Given the description of an element on the screen output the (x, y) to click on. 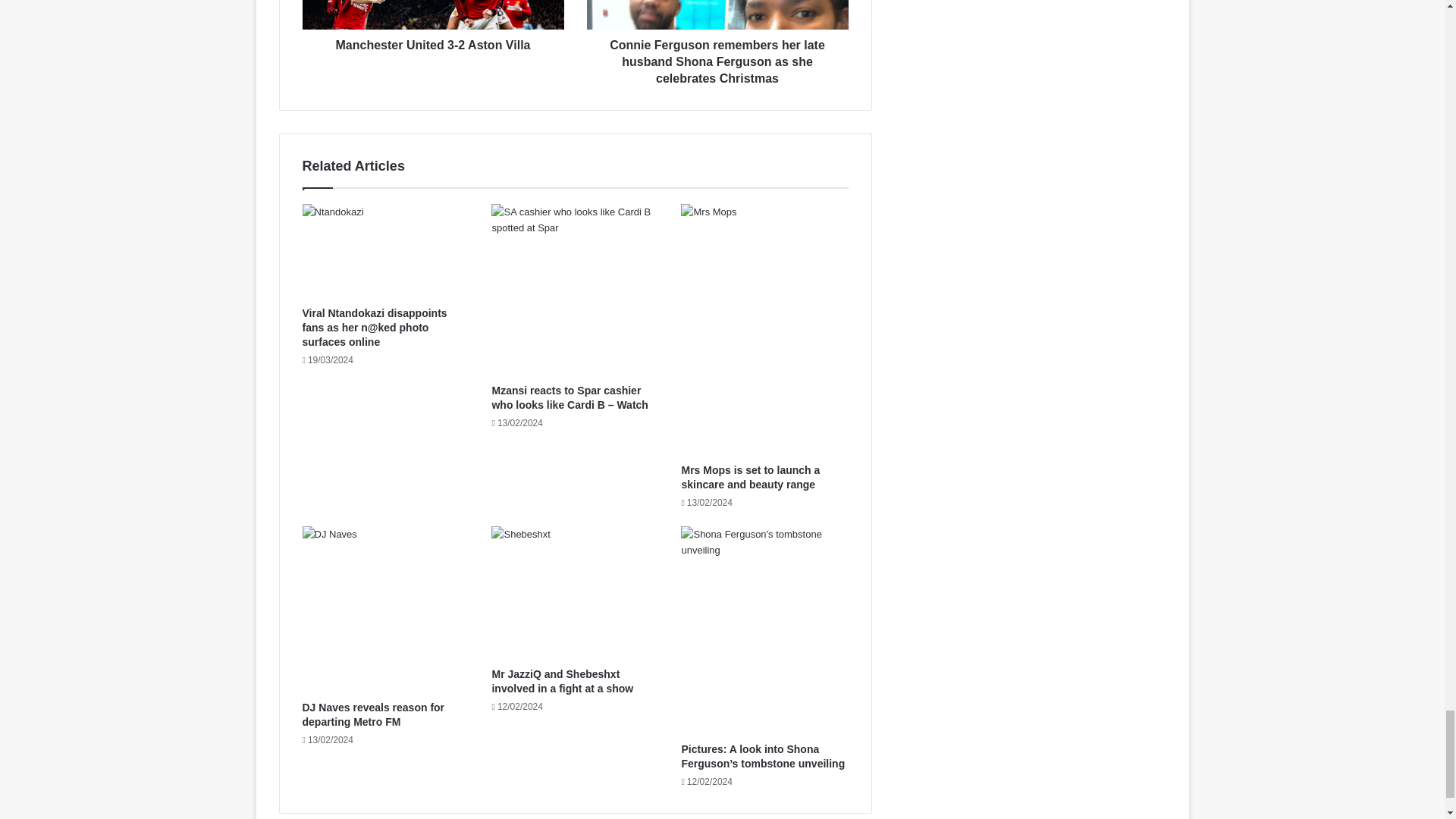
Manchester United 3-2 Aston Villa (432, 41)
Manchester United 3-2 Aston Villa (432, 14)
